Given the description of an element on the screen output the (x, y) to click on. 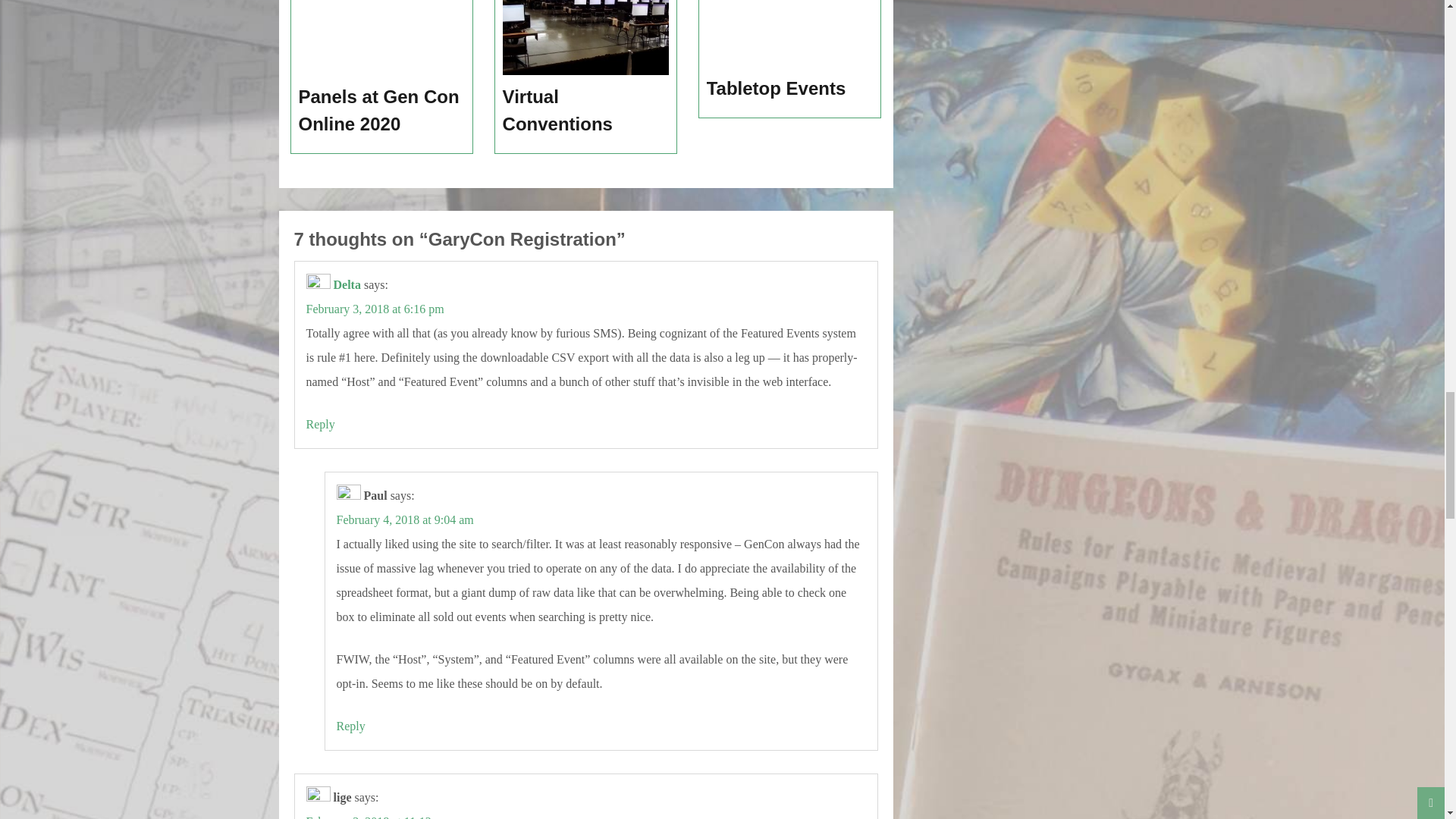
Reply (319, 423)
February 4, 2018 at 9:04 am (405, 519)
February 3, 2018 at 11:12 pm (377, 816)
February 3, 2018 at 6:16 pm (374, 308)
Reply (350, 725)
Tabletop Events (789, 88)
Virtual Conventions (585, 110)
Panels at Gen Con Online 2020 (381, 110)
Delta (347, 284)
